Given the description of an element on the screen output the (x, y) to click on. 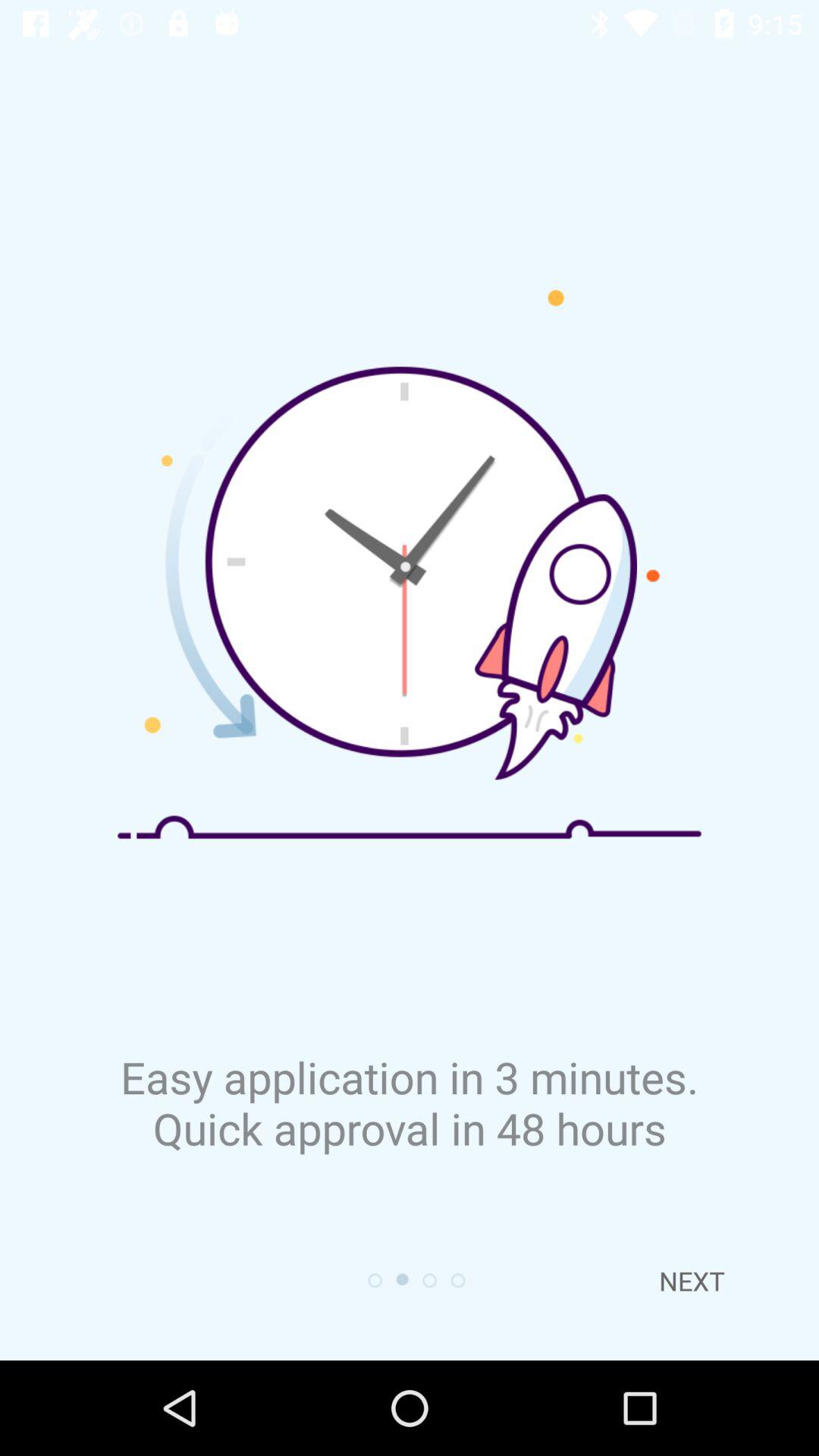
open the next at the bottom right corner (691, 1280)
